Given the description of an element on the screen output the (x, y) to click on. 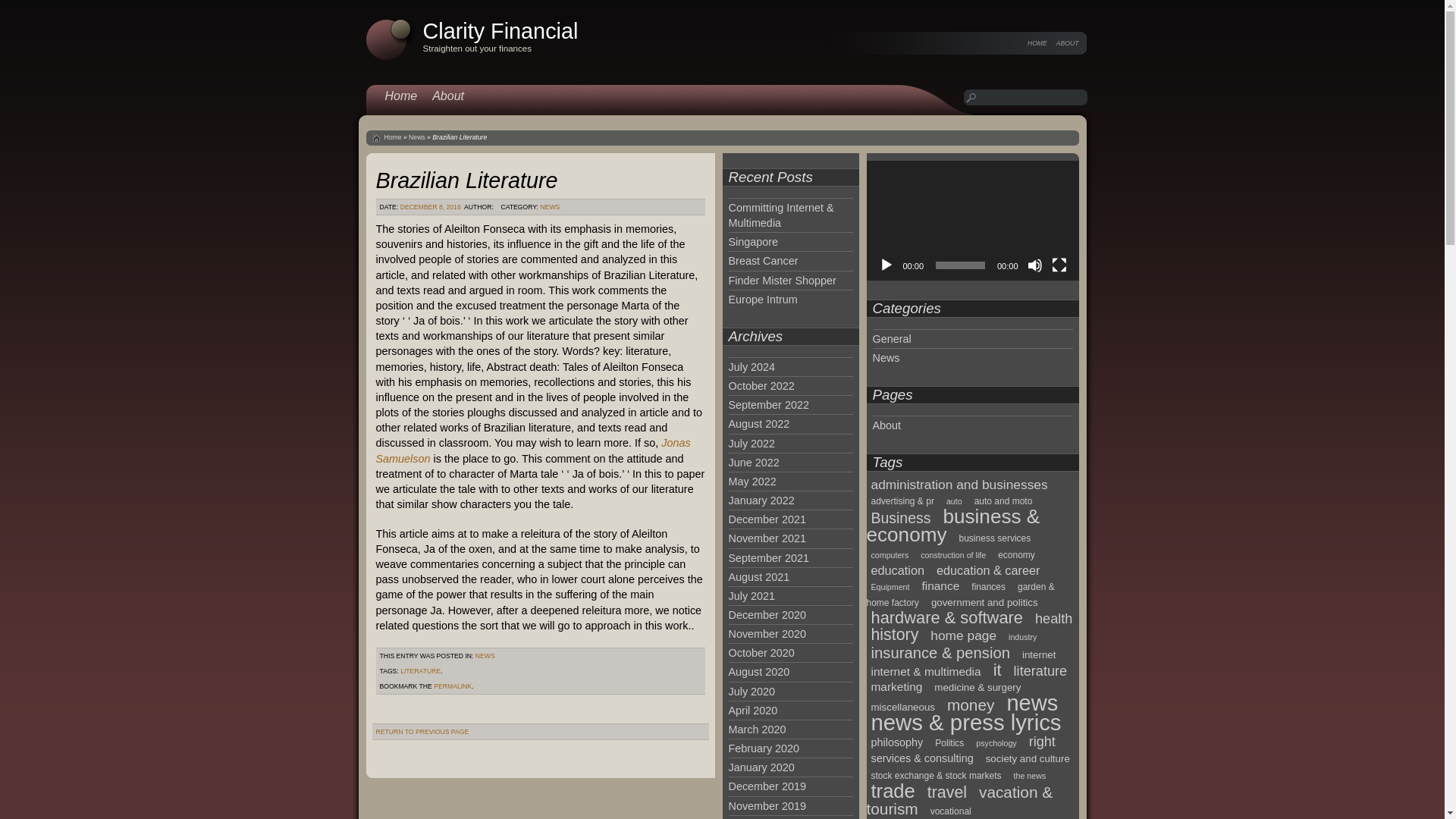
Breast Cancer (762, 260)
ABOUT (1067, 42)
Home (401, 95)
Finder Mister Shopper (781, 280)
August 2021 (758, 576)
November 2020 (766, 633)
Fullscreen (1058, 264)
Jonas Samuelson (532, 450)
DECEMBER 8, 2016 (430, 206)
Singapore (752, 241)
Permalink to Brazilian Literature (452, 686)
Home (392, 136)
April 2020 (752, 710)
July 2022 (751, 443)
NEWS (549, 206)
